Given the description of an element on the screen output the (x, y) to click on. 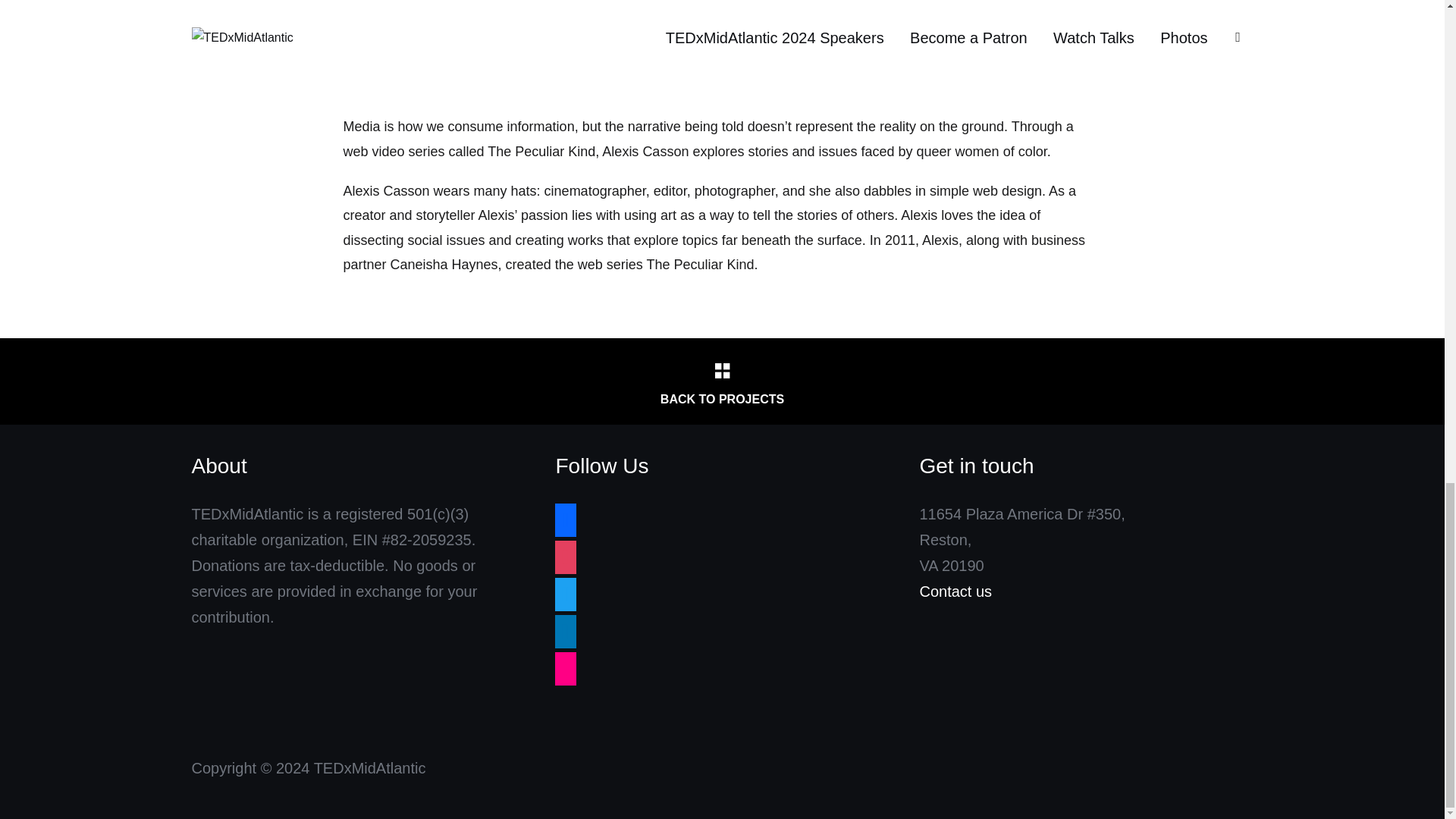
facebook (565, 519)
Follow Me (565, 593)
BACK TO PROJECTS (721, 381)
Friend me on Facebook (565, 519)
instagram (565, 556)
